Given the description of an element on the screen output the (x, y) to click on. 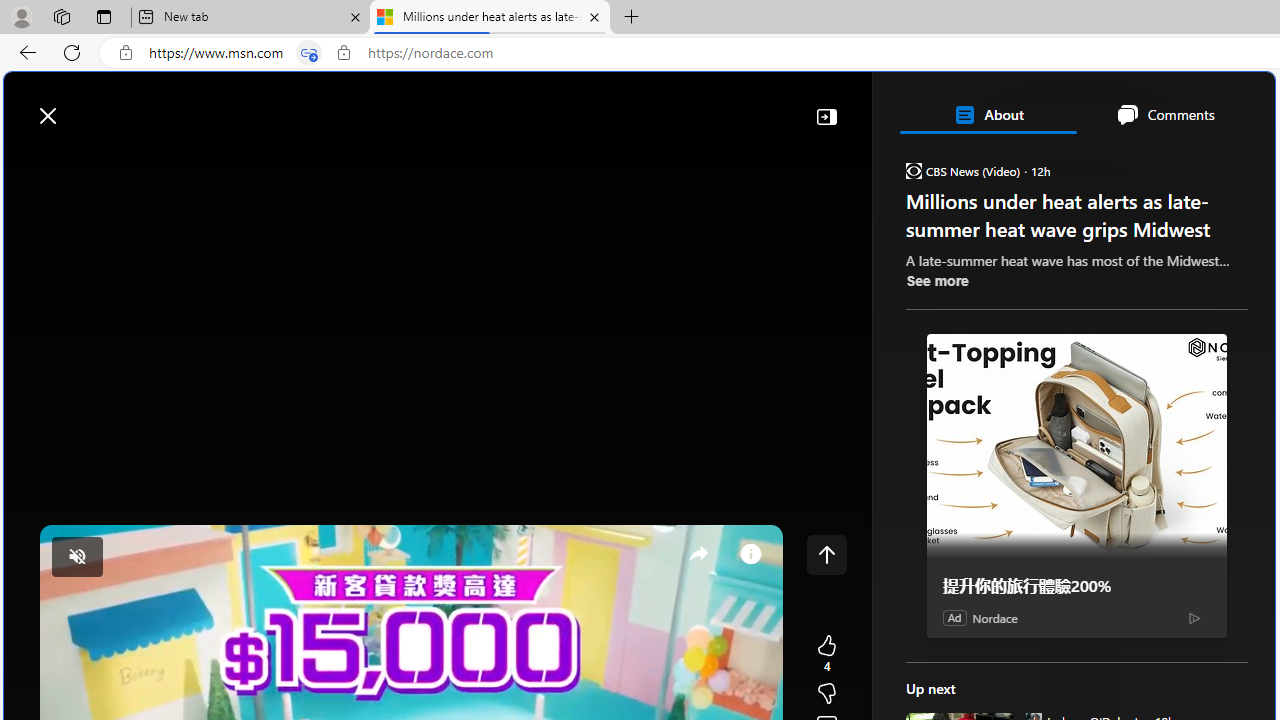
Enter your search term (644, 106)
Open navigation menu (29, 162)
Skip to content (86, 105)
ABC News (974, 557)
